Given the description of an element on the screen output the (x, y) to click on. 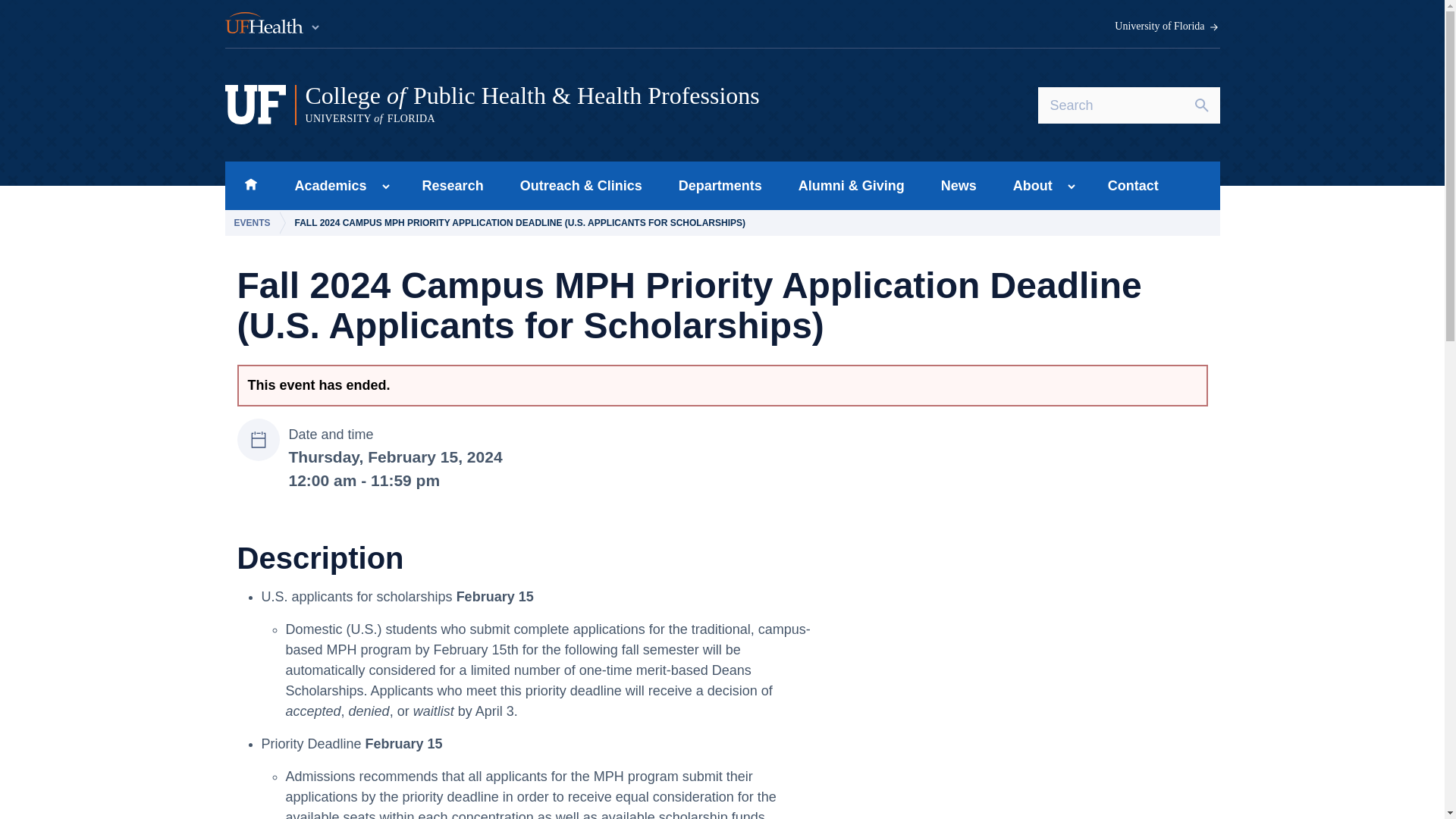
Departments (720, 185)
EVENTS (254, 222)
University of Florida (1167, 26)
UF Health (272, 24)
News (958, 185)
Contact (1132, 185)
About (1027, 185)
Academics (325, 185)
Home (250, 185)
Research (453, 185)
